Given the description of an element on the screen output the (x, y) to click on. 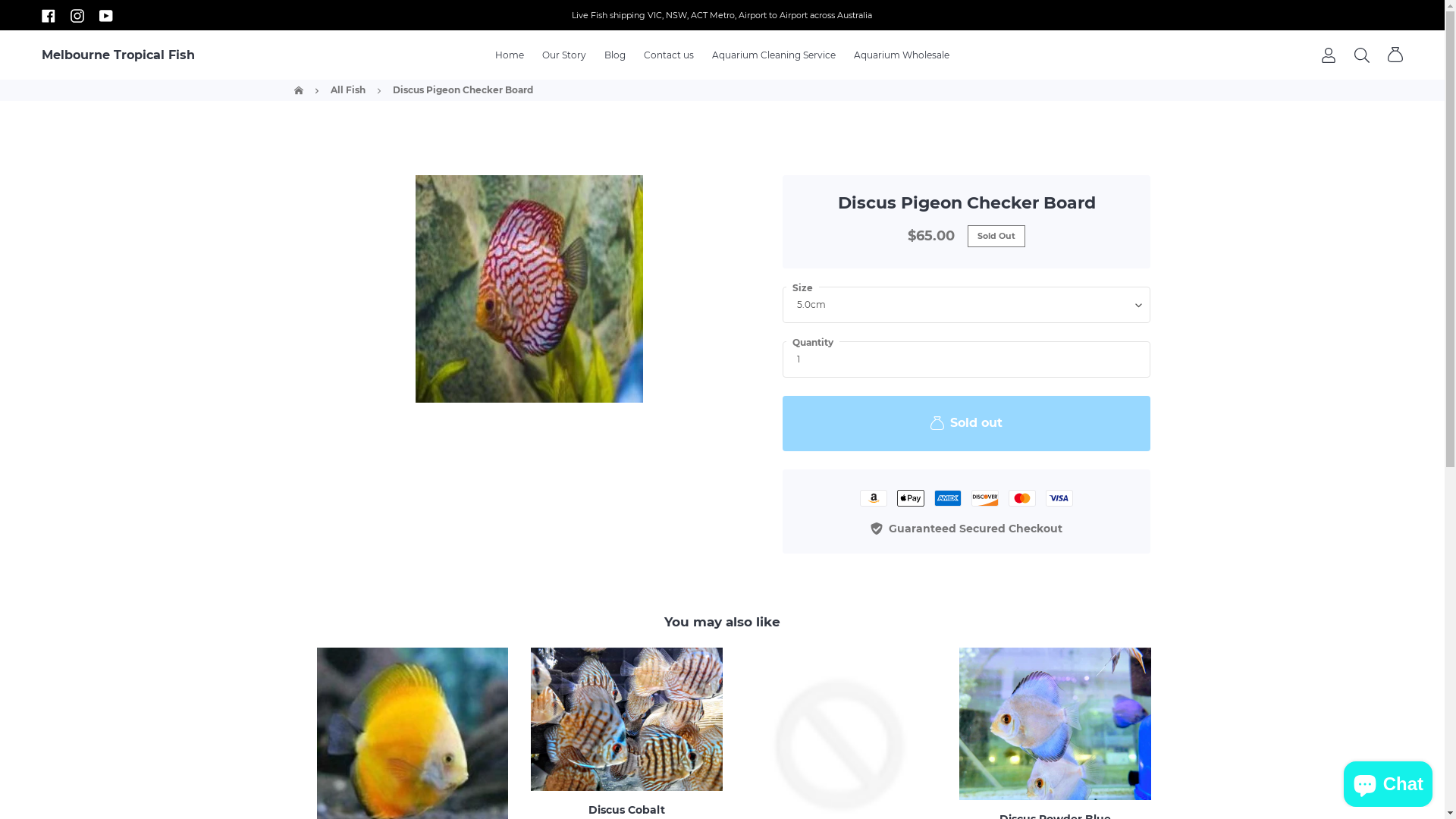
Aquarium Wholesale Element type: text (901, 55)
Shopify online store chat Element type: hover (1388, 780)
Contact us Element type: text (668, 55)
Blog Element type: text (614, 55)
Aquarium Cleaning Service Element type: text (773, 55)
Home Element type: text (509, 55)
Instagram Element type: text (77, 14)
Our Story Element type: text (563, 55)
Youtube Element type: text (105, 14)
All Fish Element type: text (347, 90)
Log in Element type: text (1328, 54)
Facebook Element type: text (48, 14)
Home Element type: hover (298, 89)
Melbourne Tropical Fish Element type: text (117, 54)
Search Element type: text (1361, 54)
Sold out Element type: text (966, 422)
